Given the description of an element on the screen output the (x, y) to click on. 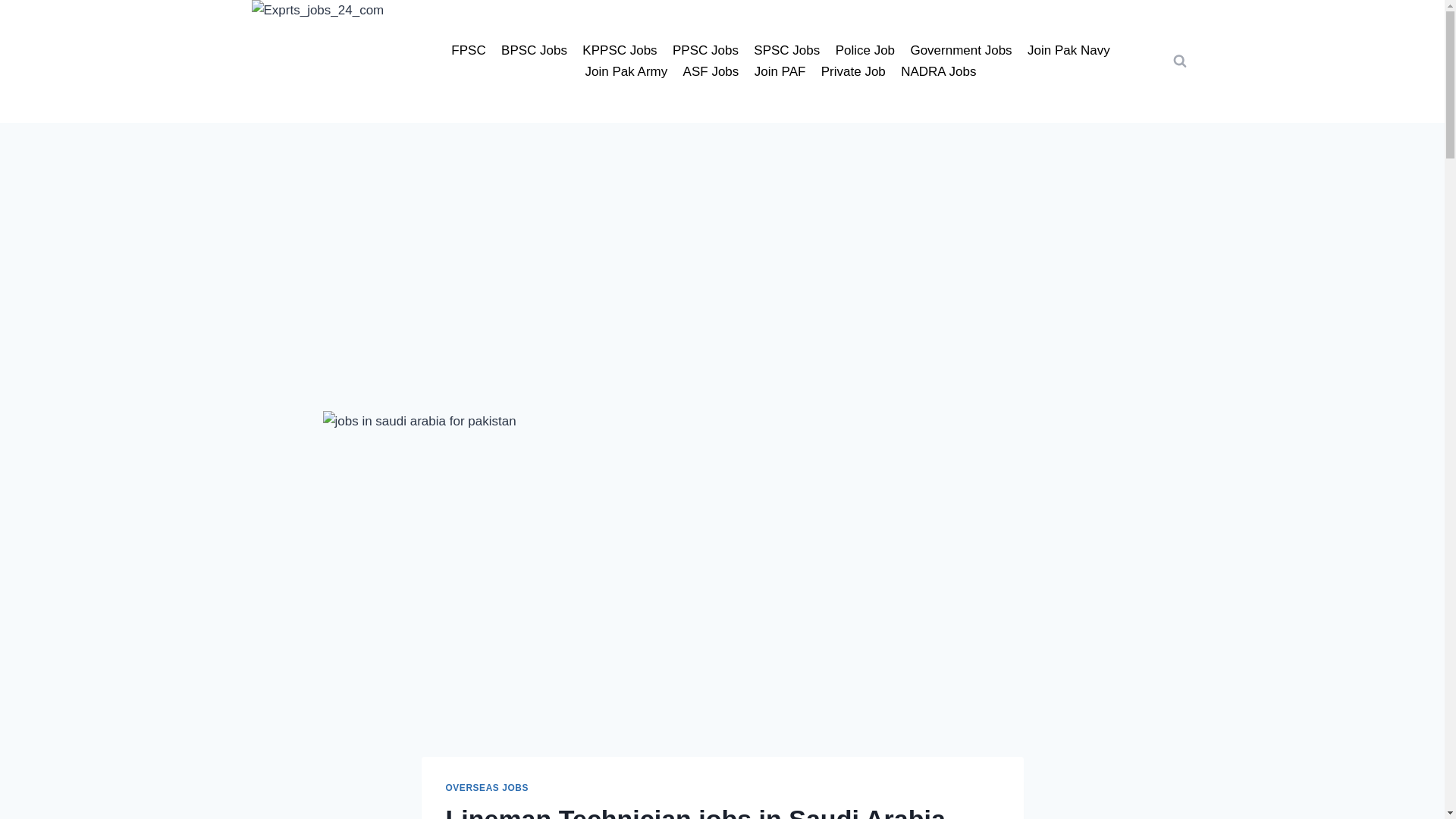
BPSC Jobs (534, 50)
ASF Jobs (710, 72)
Government Jobs (961, 50)
Police Job (864, 50)
Join Pak Army (625, 72)
FPSC (468, 50)
PPSC Jobs (705, 50)
KPPSC Jobs (620, 50)
Join PAF (778, 72)
Private Job (853, 72)
SPSC Jobs (786, 50)
OVERSEAS JOBS (487, 787)
NADRA Jobs (938, 72)
